Given the description of an element on the screen output the (x, y) to click on. 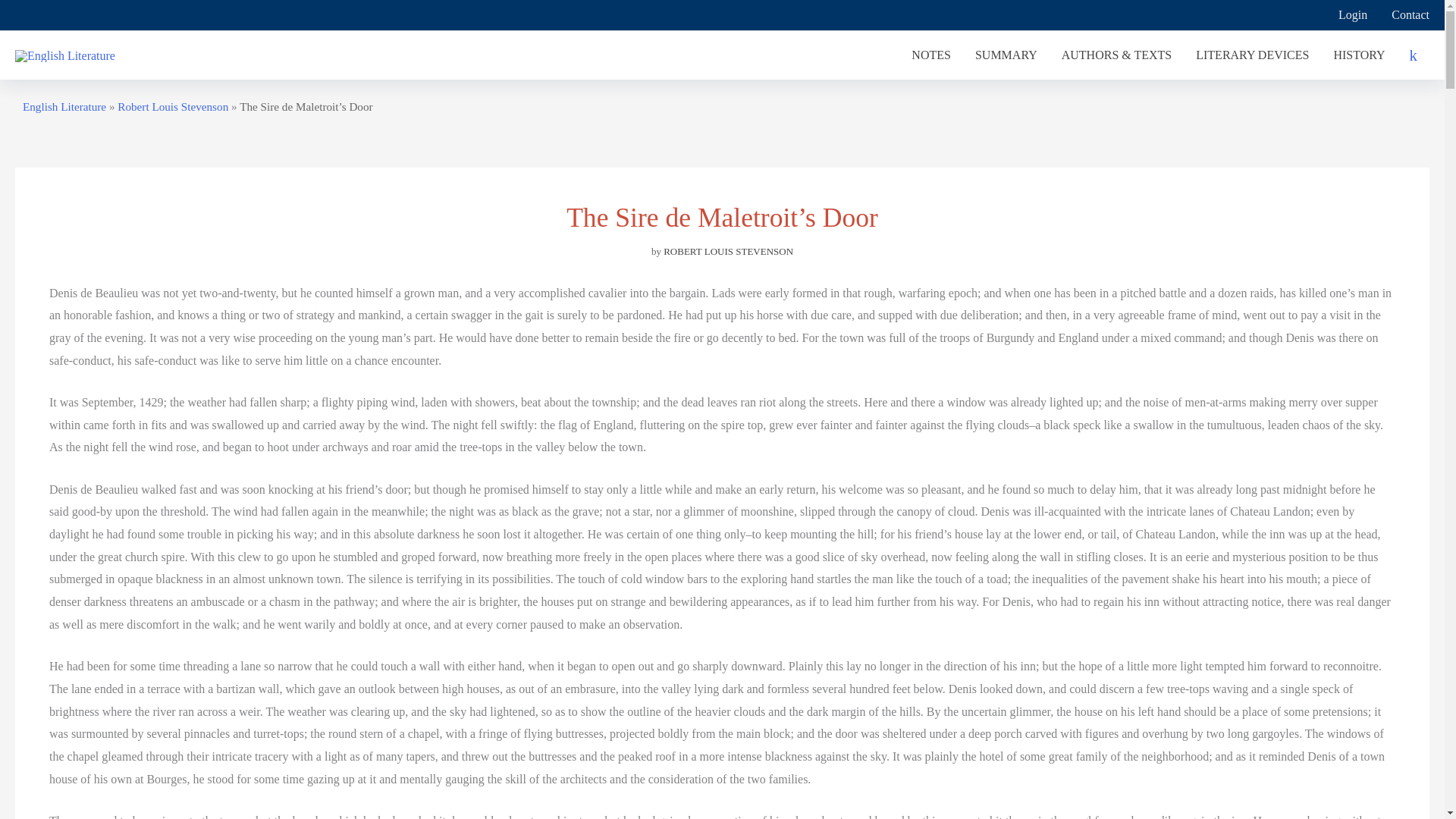
SUMMARY (1005, 55)
Login (1352, 15)
LITERARY DEVICES (1251, 55)
NOTES (930, 55)
History of English Literature (1358, 55)
HISTORY (1358, 55)
Robert Louis Stevenson (172, 106)
English Literature (64, 106)
Contact (1403, 15)
English Literature notes (930, 55)
ROBERT LOUIS STEVENSON (728, 251)
